Given the description of an element on the screen output the (x, y) to click on. 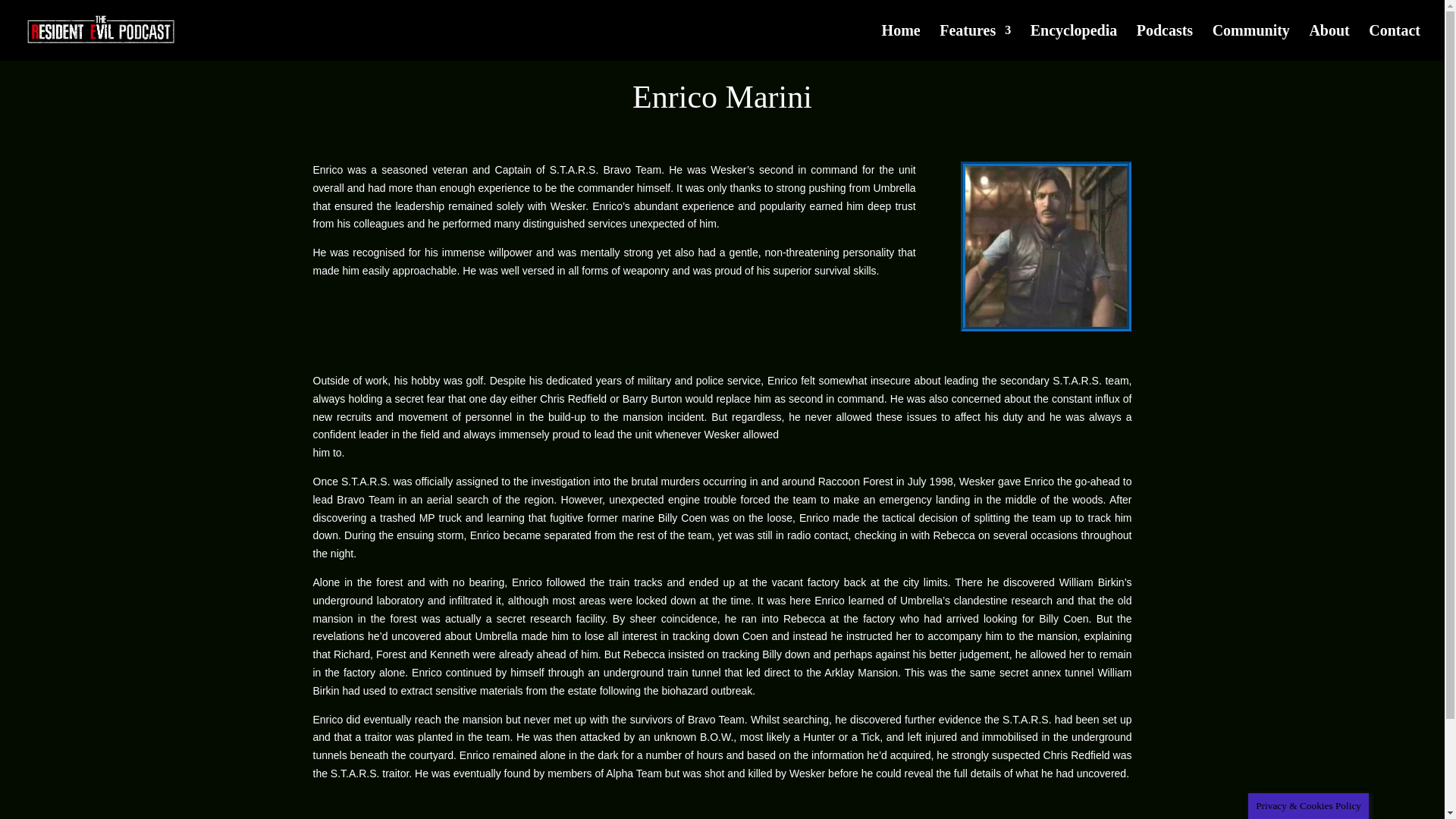
About (1328, 42)
Podcasts (1164, 42)
Community (1251, 42)
enricomarini (1045, 246)
Home (901, 42)
Encyclopedia (1073, 42)
Features (974, 42)
Contact (1394, 42)
